Given the description of an element on the screen output the (x, y) to click on. 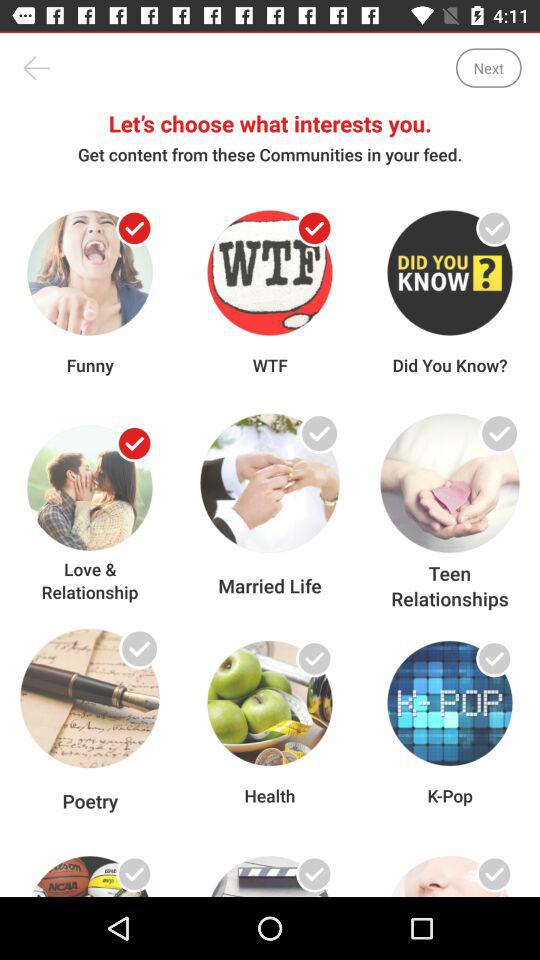
select interested subject (134, 658)
